Given the description of an element on the screen output the (x, y) to click on. 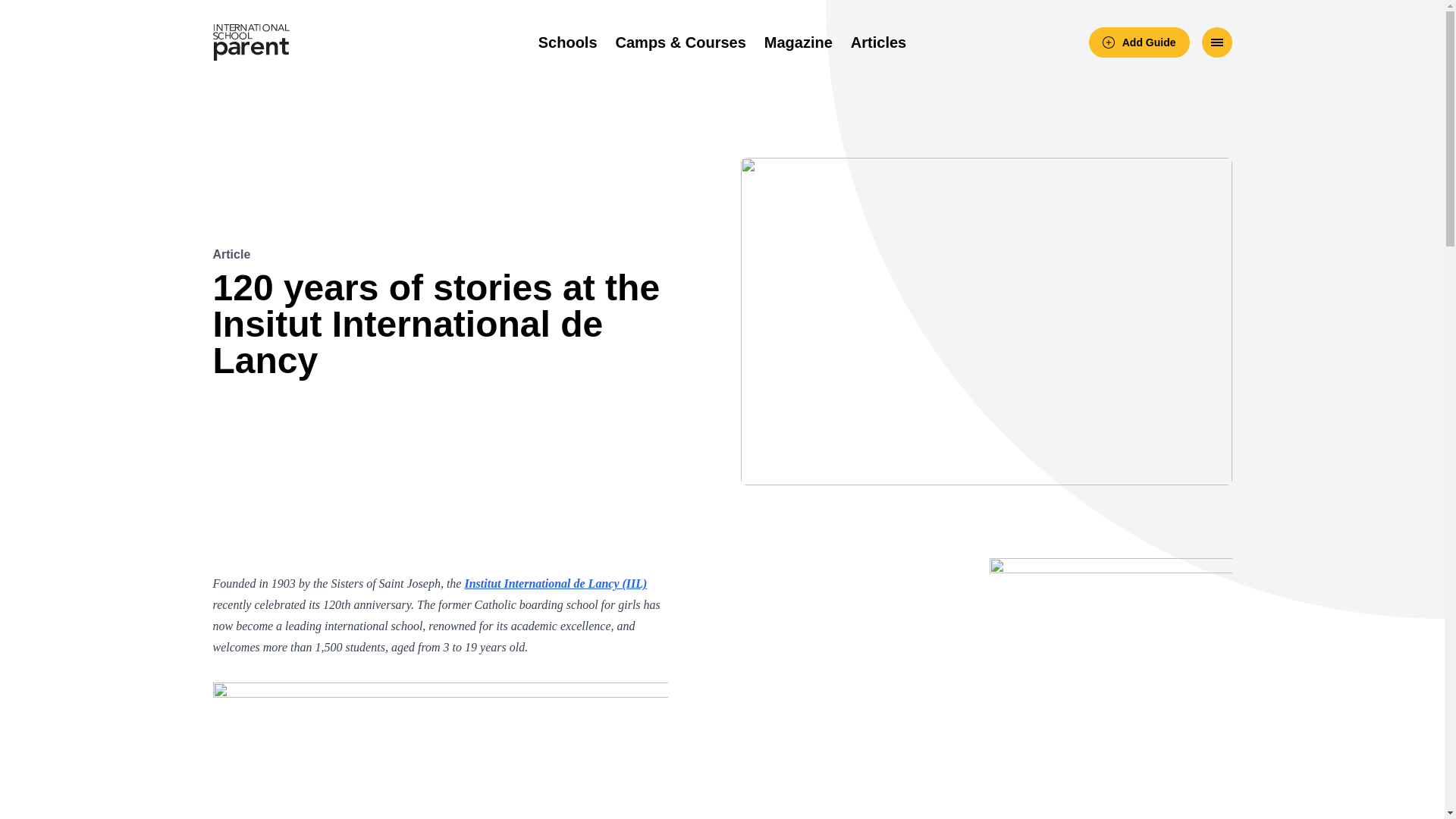
Add Guide (1139, 42)
Magazine (798, 42)
Schools (567, 42)
Open mobile navigation (1216, 42)
Articles (877, 42)
